Given the description of an element on the screen output the (x, y) to click on. 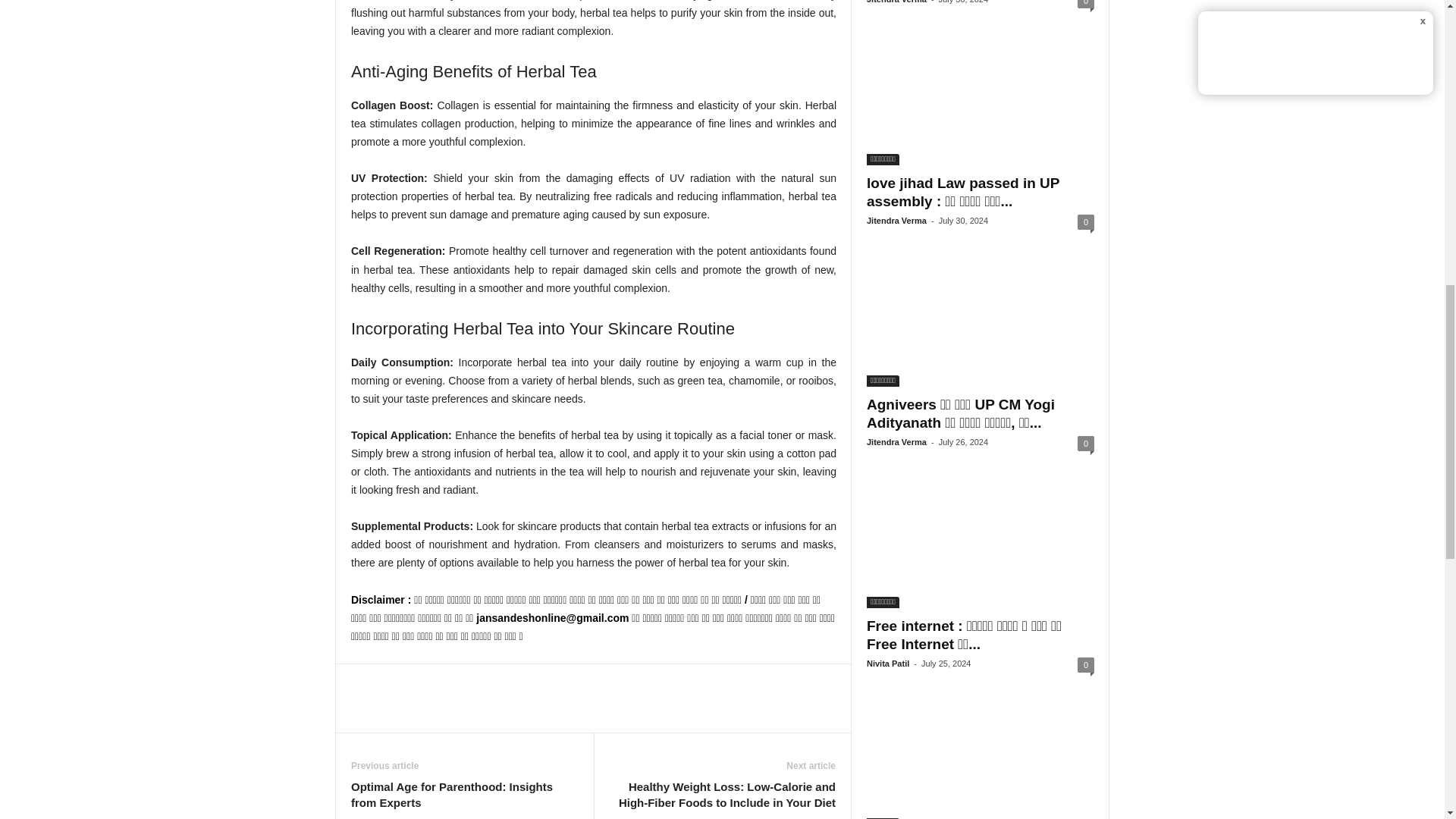
bottomFacebookLike (390, 679)
